Given the description of an element on the screen output the (x, y) to click on. 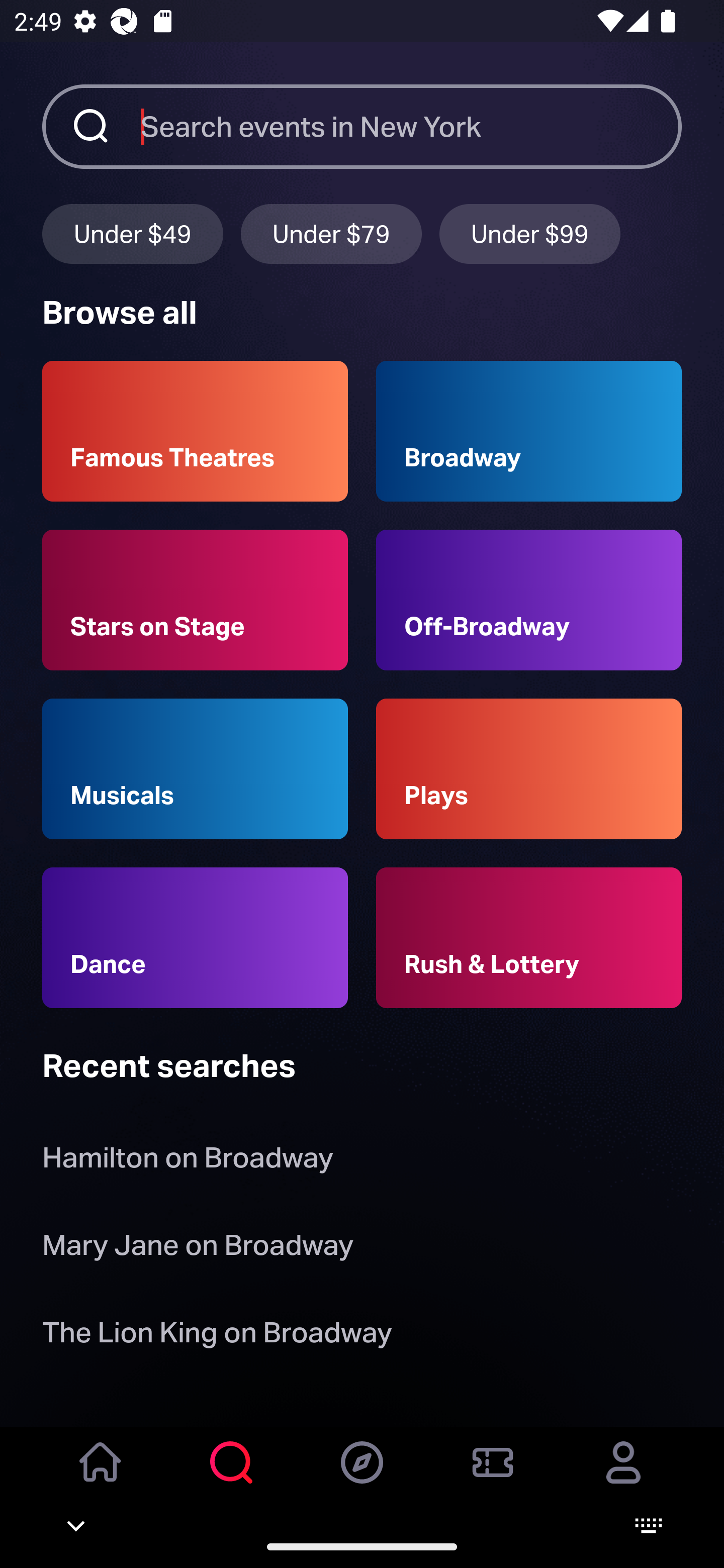
Search events in New York (411, 126)
Under $49 (131, 233)
Under $79 (331, 233)
Under $99 (529, 233)
Famous Theatres (194, 430)
Broadway (528, 430)
Stars on Stage (194, 600)
Off-Broadway (528, 600)
Musicals (194, 768)
Plays (528, 768)
Dance (194, 937)
Rush & Lottery (528, 937)
Hamilton on Broadway (187, 1161)
Mary Jane on Broadway (197, 1248)
The Lion King on Broadway (216, 1335)
Home (100, 1475)
Discover (361, 1475)
Orders (492, 1475)
Account (623, 1475)
